Given the description of an element on the screen output the (x, y) to click on. 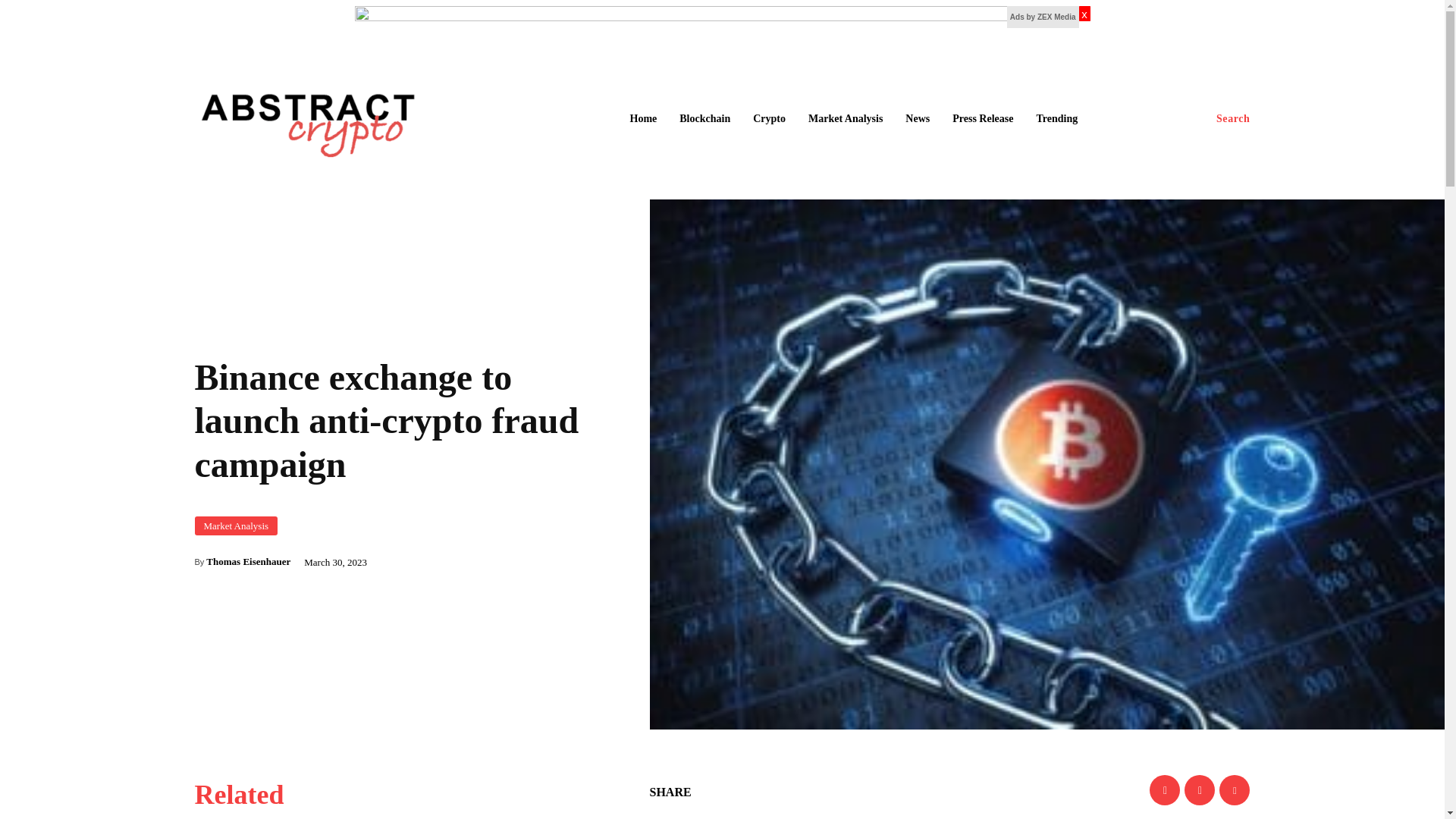
Trending (1055, 119)
Blockchain (704, 119)
Market Analysis (235, 525)
Thomas Eisenhauer (247, 561)
Market Analysis (844, 119)
Home (642, 119)
News (917, 119)
Search (1232, 119)
Press Release (982, 119)
Crypto (769, 119)
